Given the description of an element on the screen output the (x, y) to click on. 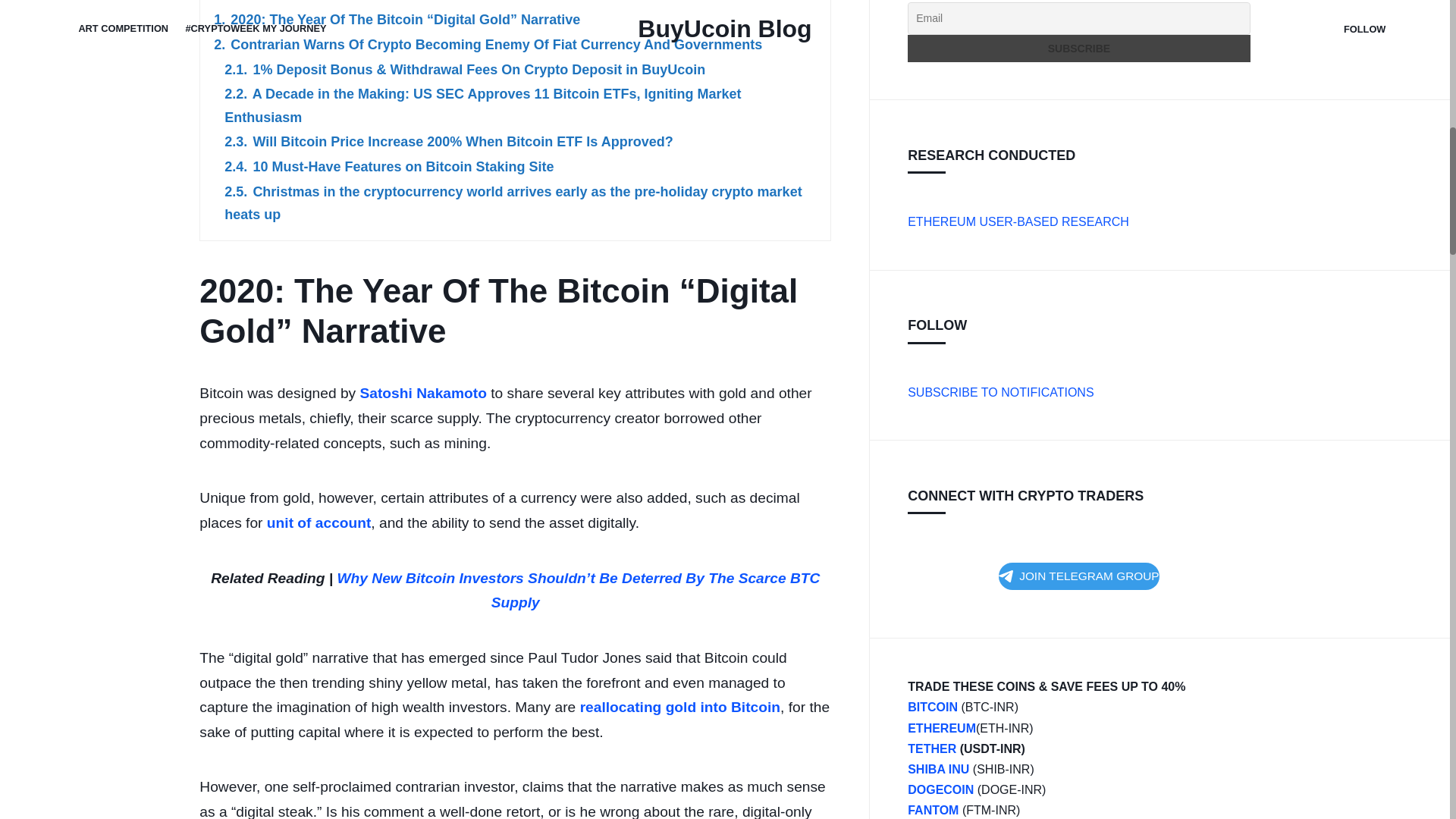
Subscribe (1078, 48)
